Given the description of an element on the screen output the (x, y) to click on. 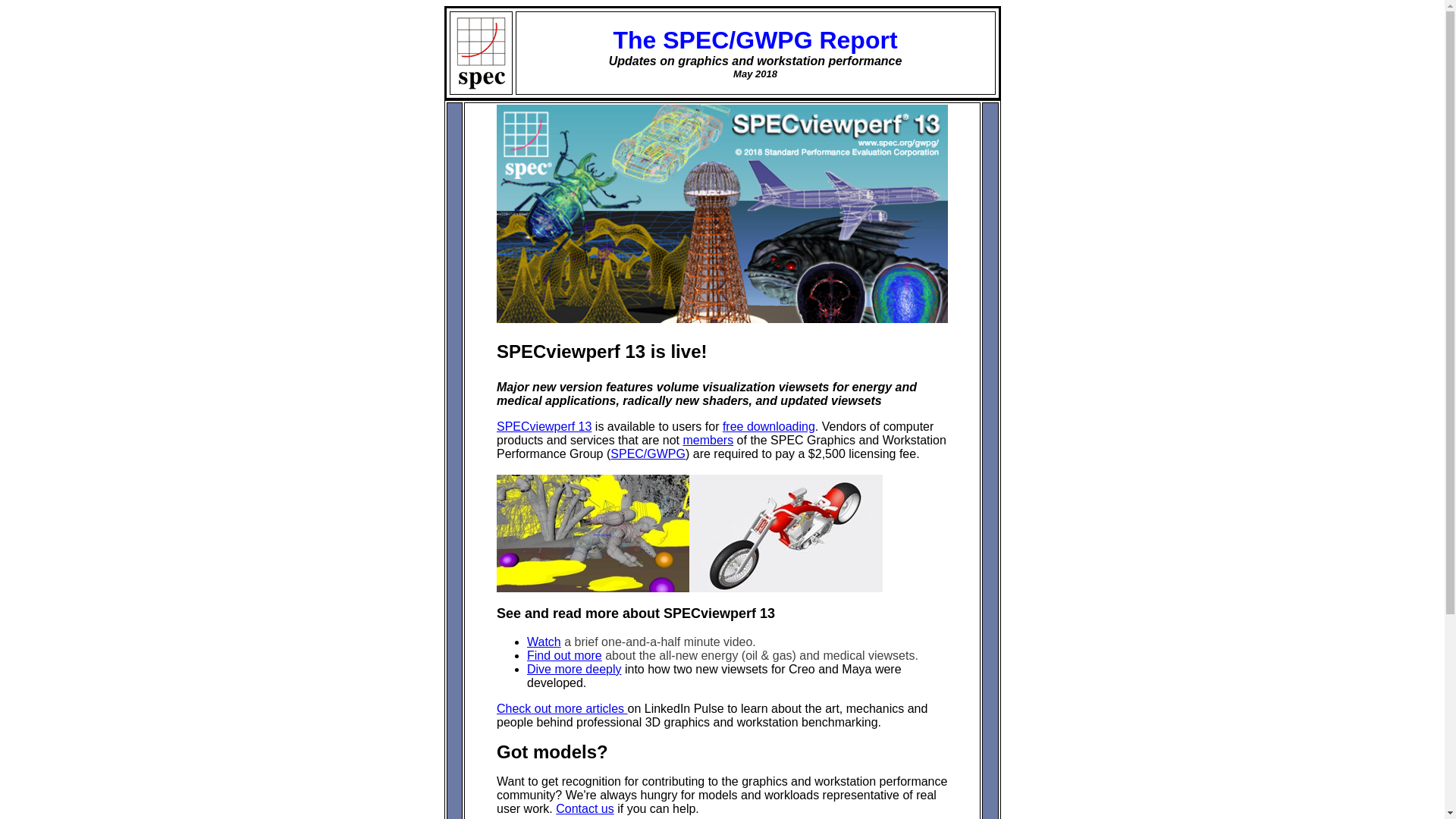
Find out more (564, 655)
SPECviewperf 13 (543, 426)
free downloading (768, 426)
Watch (543, 641)
Contact us (584, 808)
Check out more articles (561, 707)
Dive more deeply (574, 668)
members (707, 440)
